Given the description of an element on the screen output the (x, y) to click on. 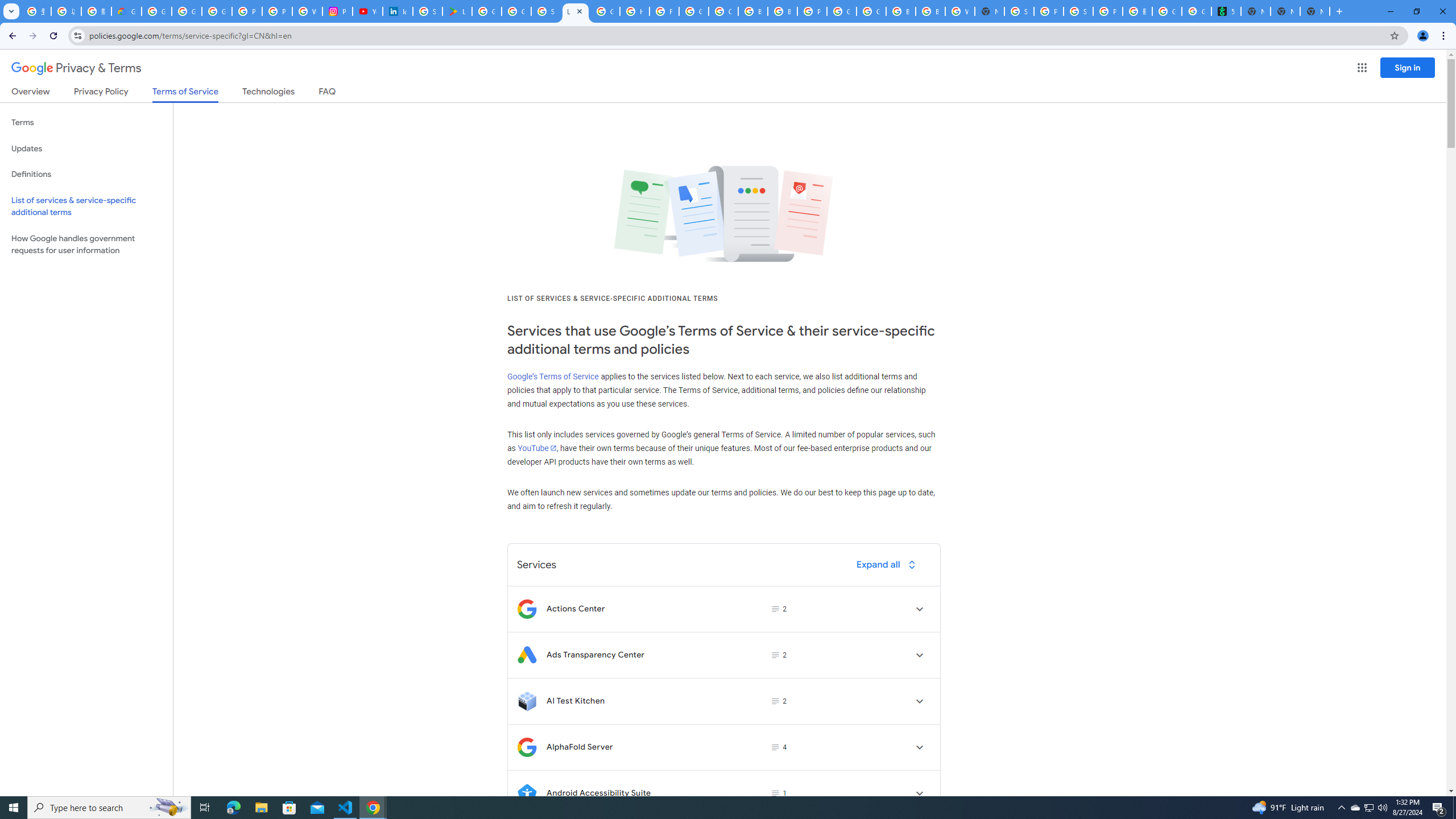
Browse Chrome as a guest - Computer - Google Chrome Help (900, 11)
YouTube (536, 447)
YouTube Culture & Trends - On The Rise: Handcam Videos (367, 11)
New Tab (1314, 11)
Sign in (1407, 67)
Logo for Ads Transparency Center (526, 654)
Terms (86, 122)
Last Shelter: Survival - Apps on Google Play (456, 11)
Privacy Help Center - Policies Help (247, 11)
Bookmark this tab (1393, 35)
Sign in - Google Accounts (545, 11)
